Given the description of an element on the screen output the (x, y) to click on. 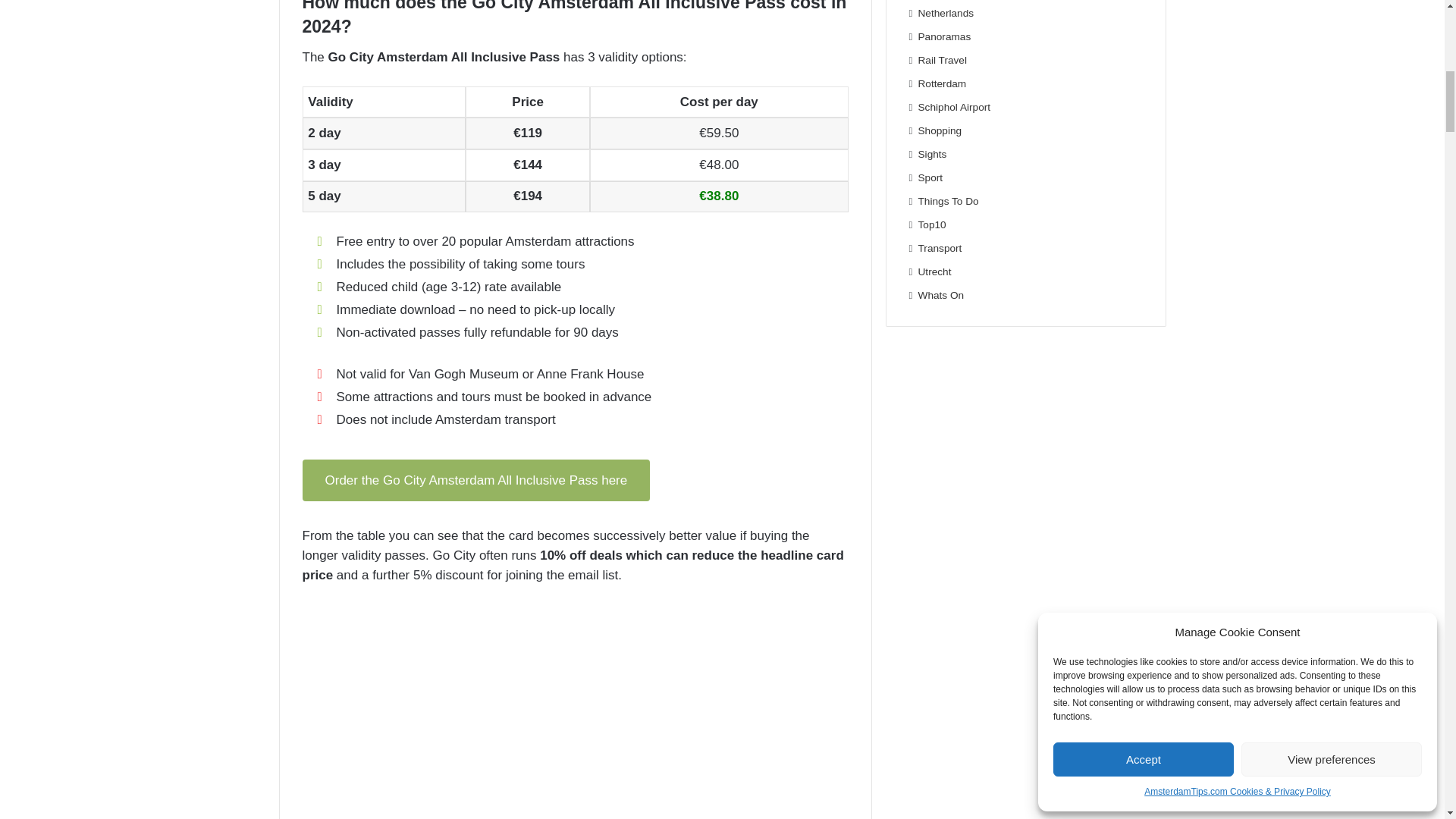
Order the Go City Amsterdam All Inclusive Pass here (475, 480)
